Given the description of an element on the screen output the (x, y) to click on. 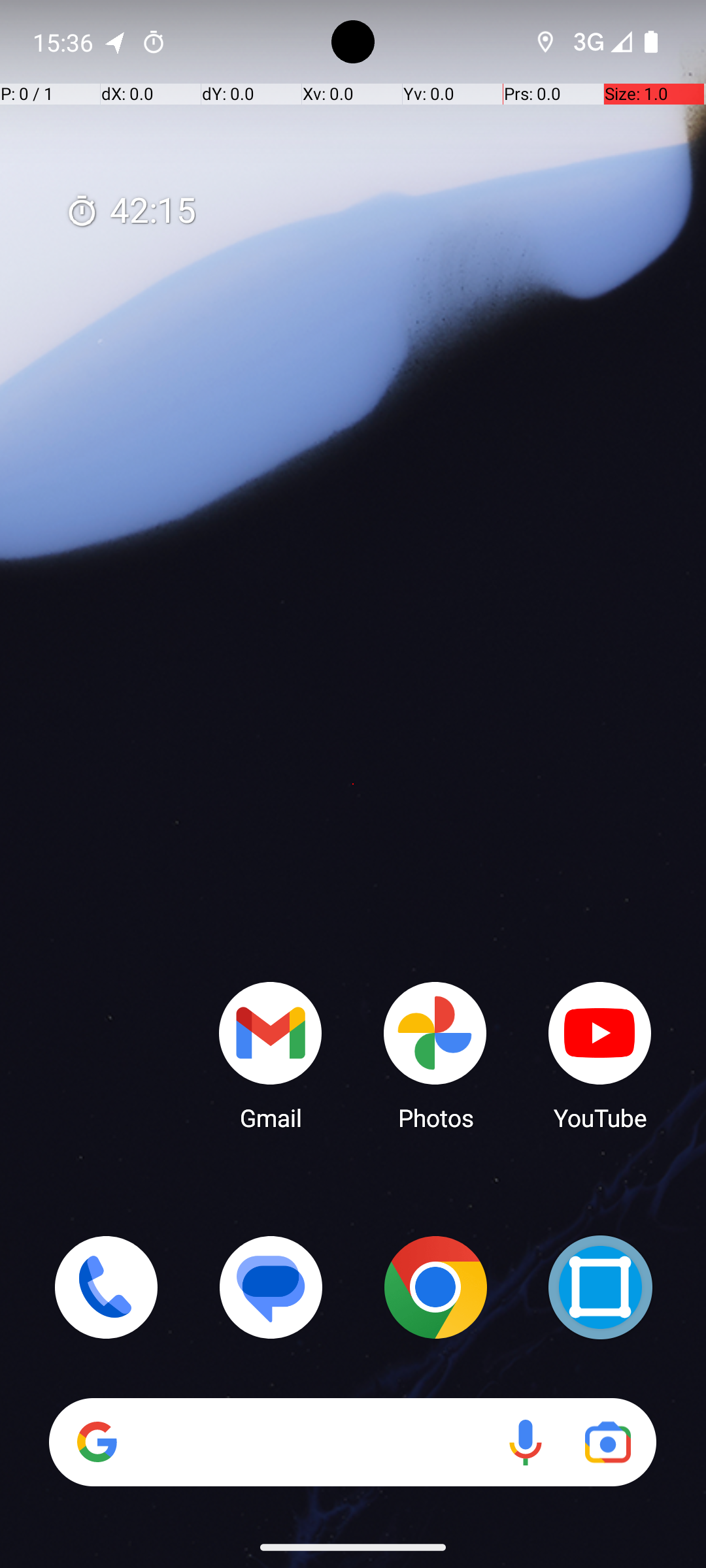
42:15 Element type: android.widget.TextView (130, 210)
